Given the description of an element on the screen output the (x, y) to click on. 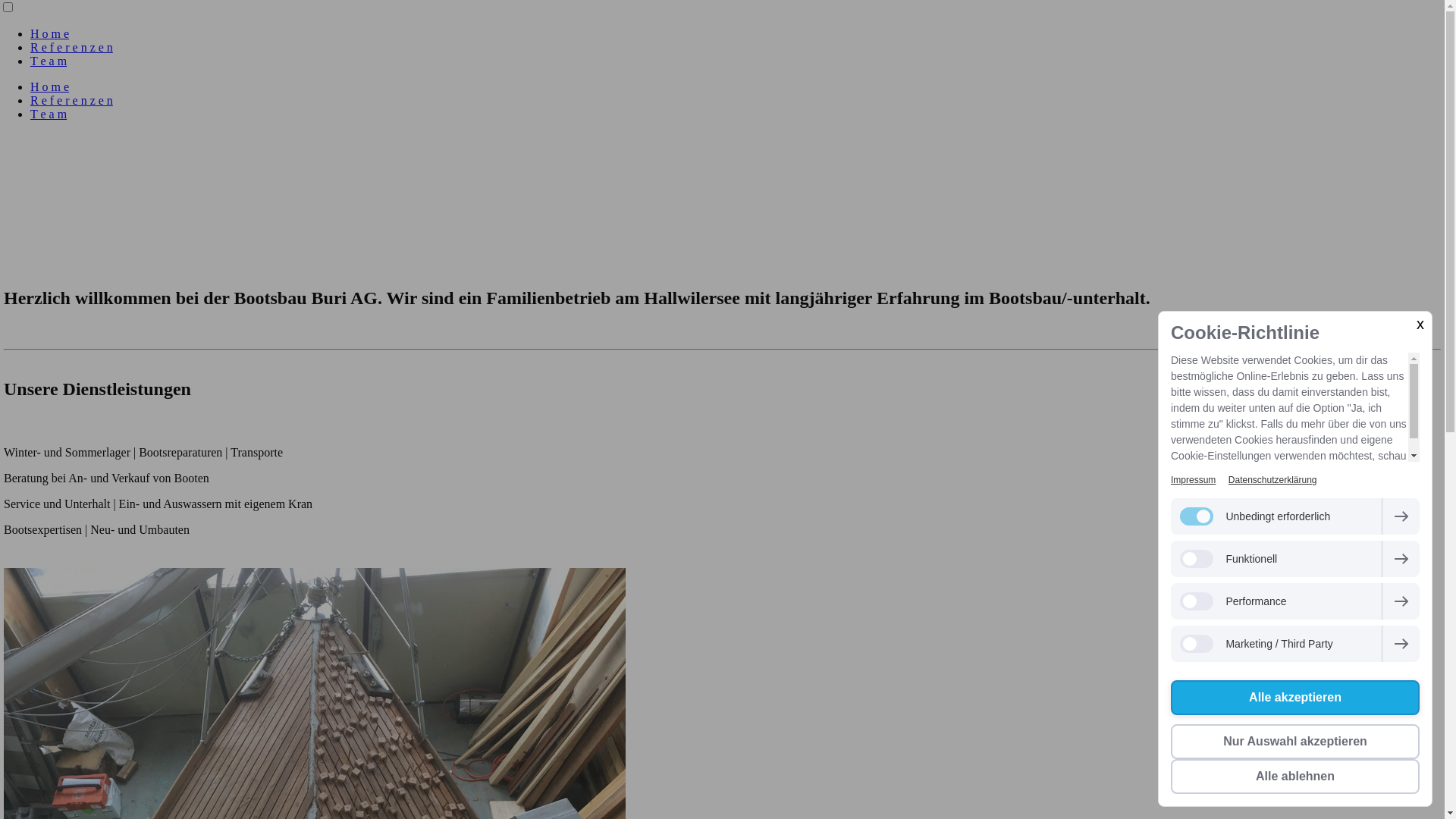
R e f e r e n z e n Element type: text (71, 46)
Nur Auswahl akzeptieren Element type: text (1294, 741)
H o m e Element type: text (49, 33)
T e a m Element type: text (48, 113)
T e a m Element type: text (48, 60)
H o m e Element type: text (49, 86)
Alle ablehnen Element type: text (1294, 776)
R e f e r e n z e n Element type: text (71, 100)
Impressum Element type: text (1192, 479)
Alle akzeptieren Element type: text (1294, 697)
